Given the description of an element on the screen output the (x, y) to click on. 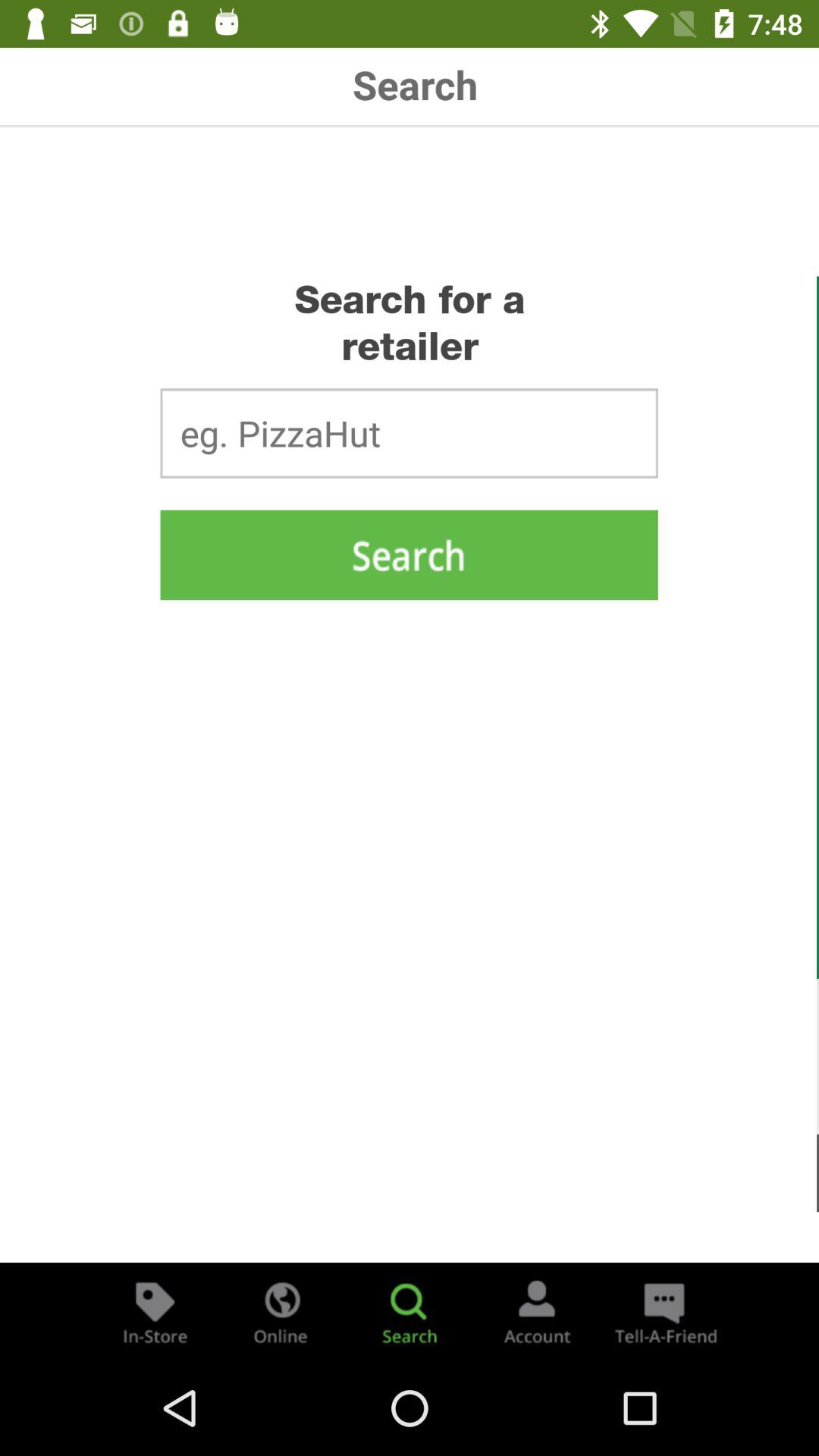
show online discounts (281, 1311)
